Given the description of an element on the screen output the (x, y) to click on. 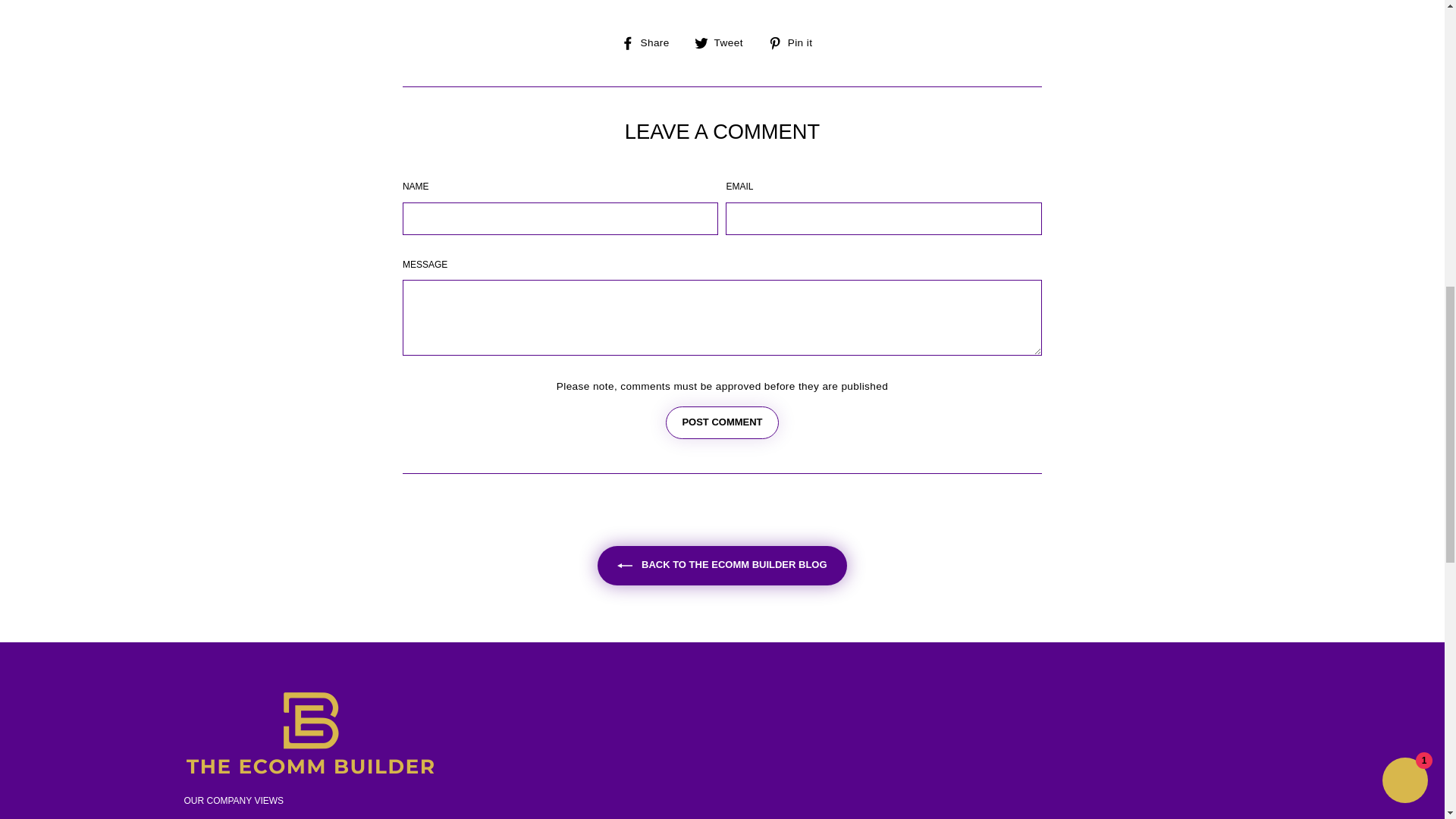
Tweet on Twitter (724, 42)
Share on Facebook (651, 42)
Pin on Pinterest (796, 42)
